Given the description of an element on the screen output the (x, y) to click on. 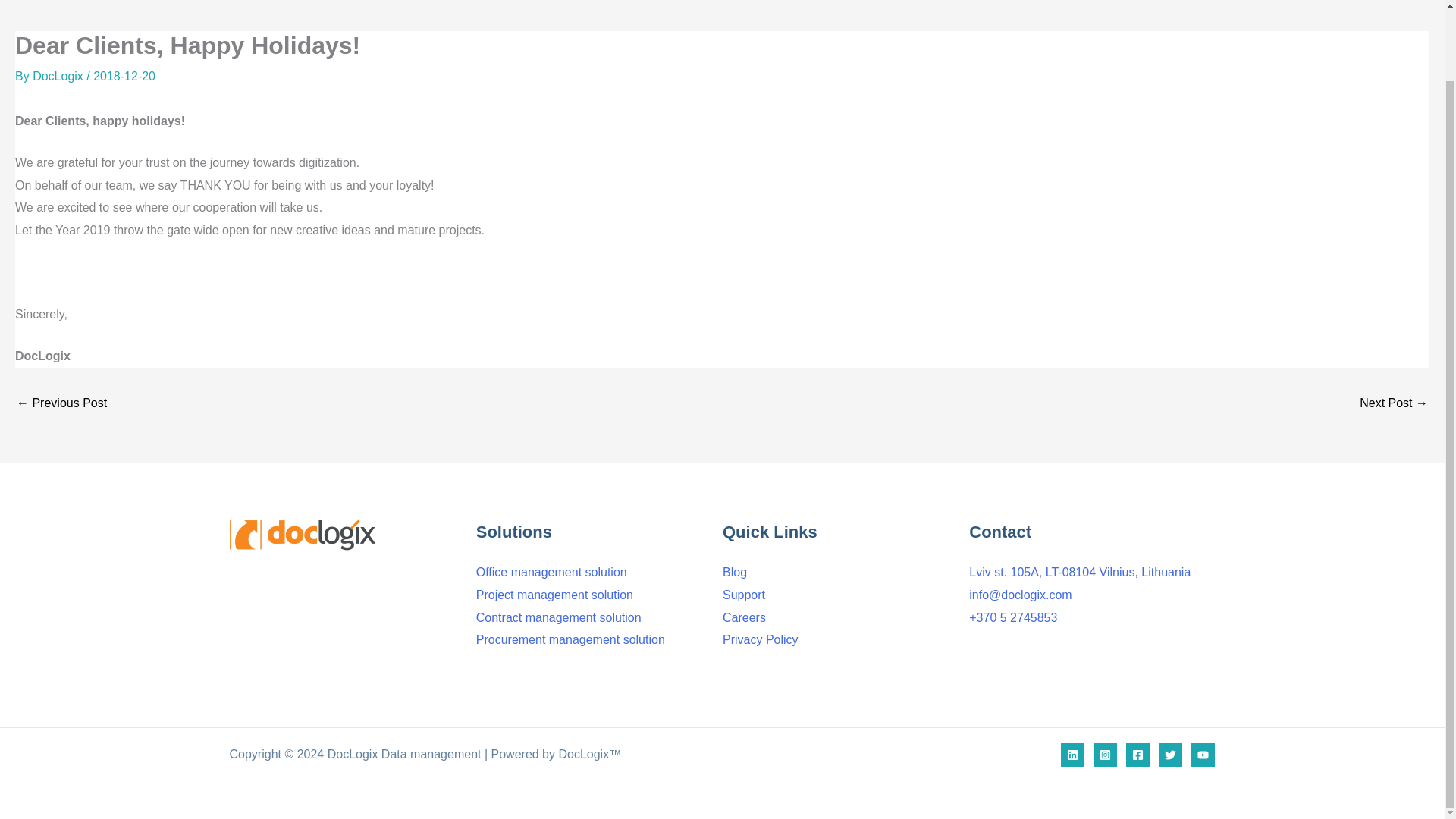
Procurement management solution (570, 639)
Blog (734, 571)
Support (743, 594)
Contract management solution (559, 617)
Office management solution (551, 571)
DocLogix (58, 75)
View all posts by DocLogix (58, 75)
Careers (743, 617)
Lviv st. 105A, LT-08104 Vilnius, Lithuania (1080, 571)
Project management solution (554, 594)
Privacy Policy (759, 639)
